Given the description of an element on the screen output the (x, y) to click on. 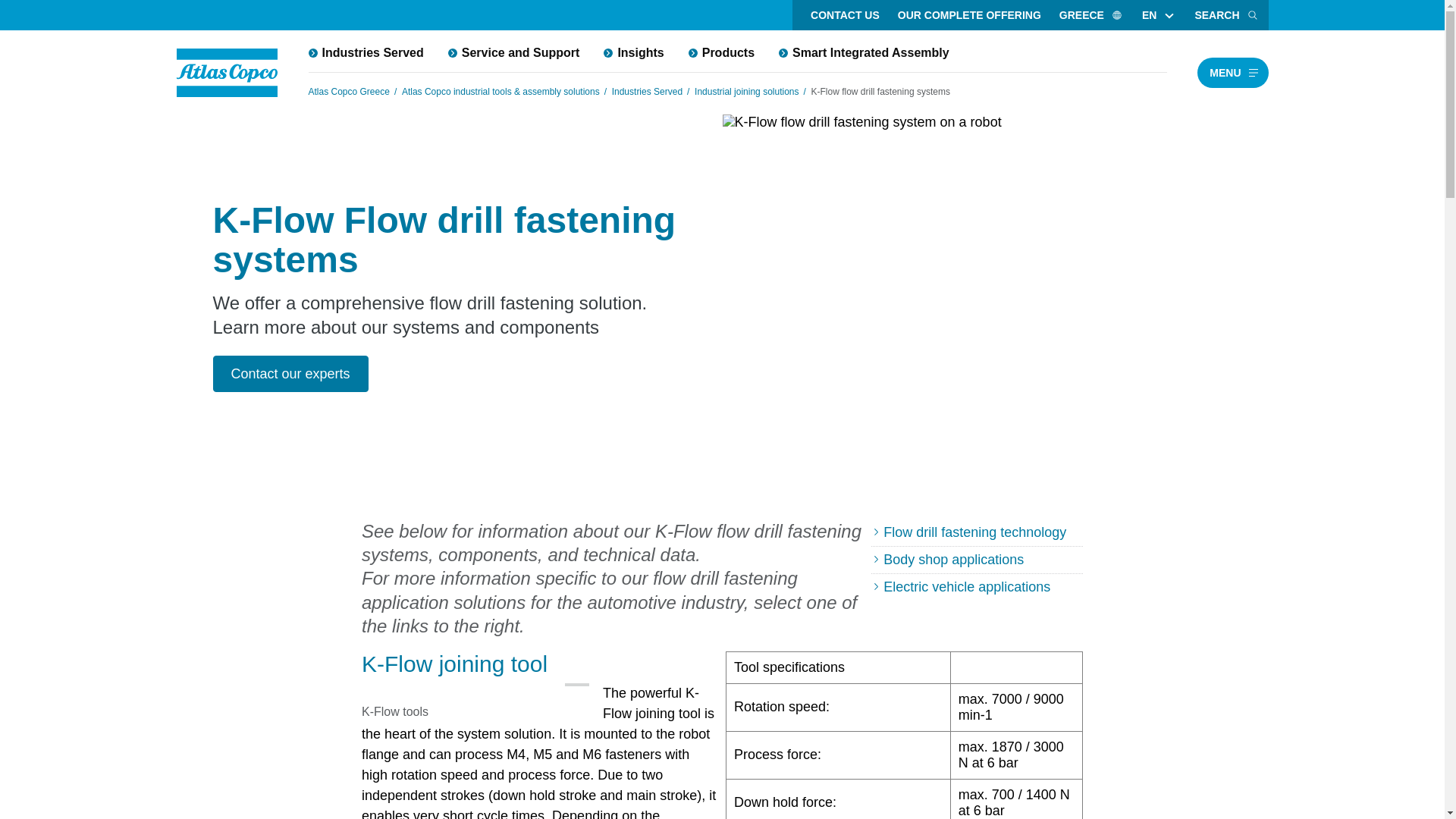
SEARCH (1226, 15)
EN (1149, 15)
Products (722, 52)
Industries Served (365, 52)
GREECE (1090, 15)
Smart Integrated Assembly (863, 52)
Service and Support (513, 52)
Industrial joining solutions (745, 91)
Industries Served (646, 91)
AtlasCopco Logo (227, 72)
